Given the description of an element on the screen output the (x, y) to click on. 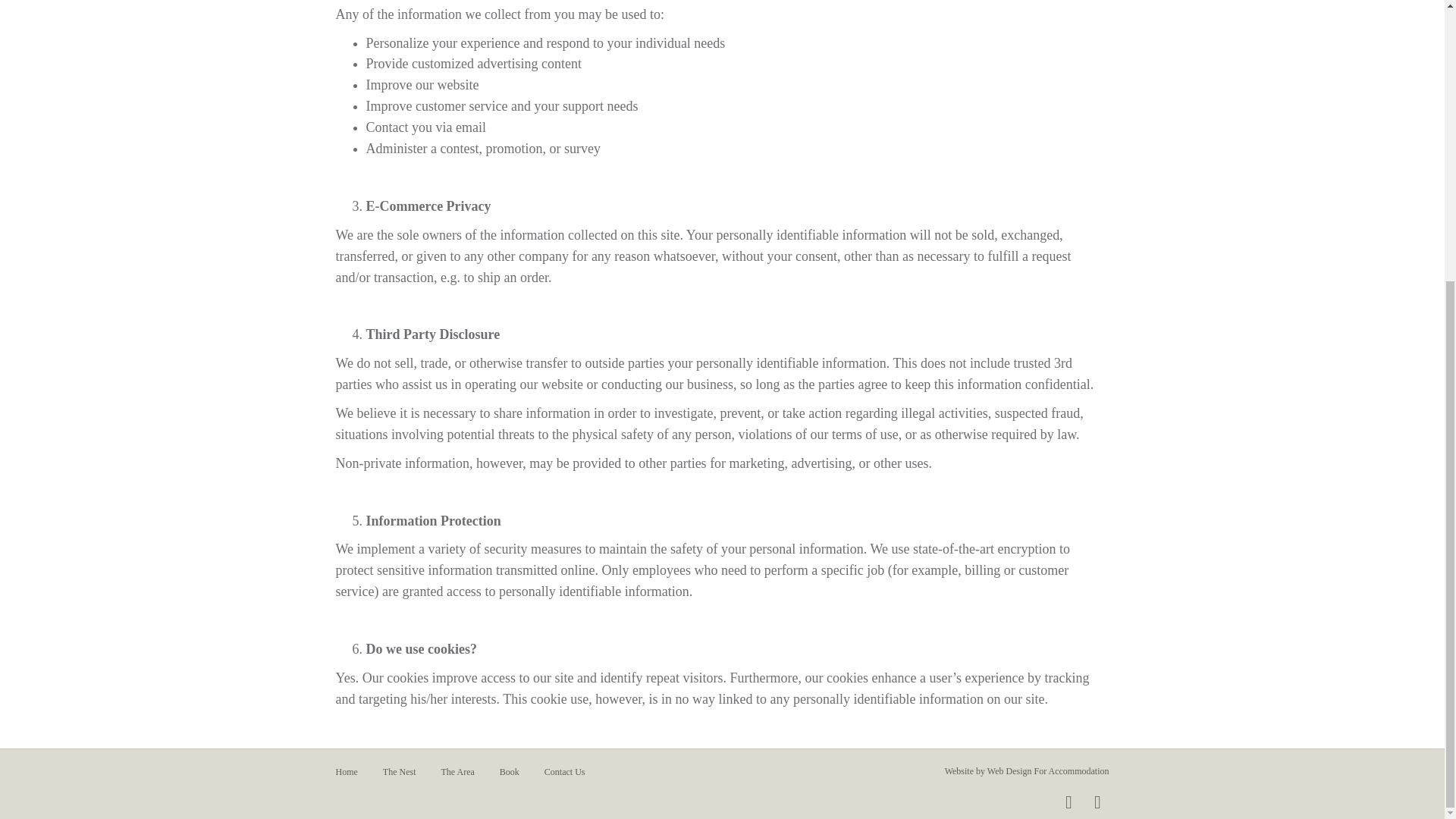
Web Design For Accommodation (1048, 770)
Book (509, 777)
Facebook (1068, 802)
The Nest (399, 777)
Home (346, 777)
Twitter (1097, 802)
Contact Us (564, 777)
The Area (456, 777)
